Given the description of an element on the screen output the (x, y) to click on. 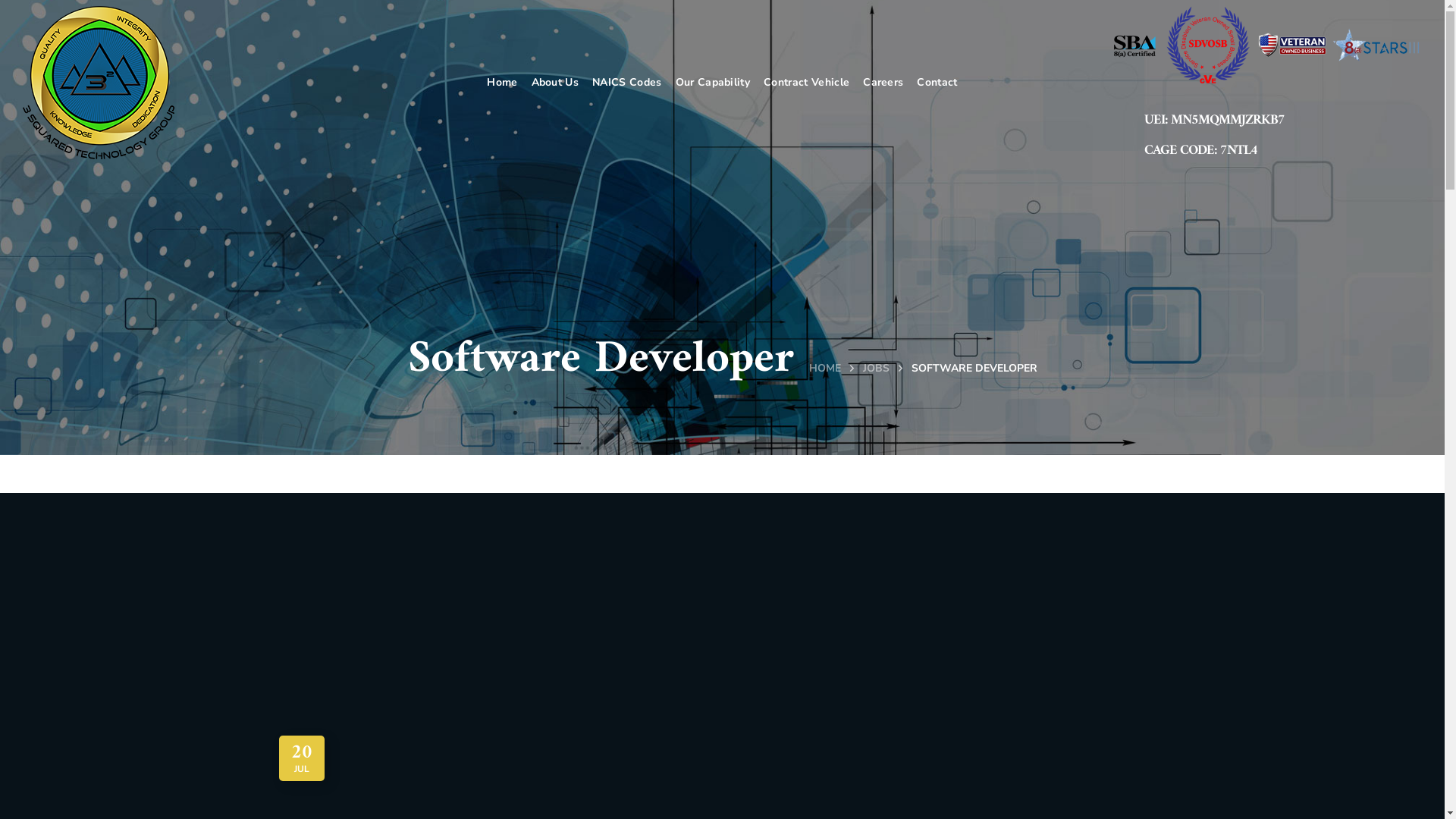
HOME Element type: text (824, 367)
NAICS Codes Element type: text (626, 82)
Contact Element type: text (936, 82)
Home Element type: text (502, 82)
About Us Element type: text (555, 82)
JOBS Element type: text (875, 367)
Careers Element type: text (883, 82)
Our Capability Element type: text (712, 82)
Contract Vehicle Element type: text (806, 82)
